Given the description of an element on the screen output the (x, y) to click on. 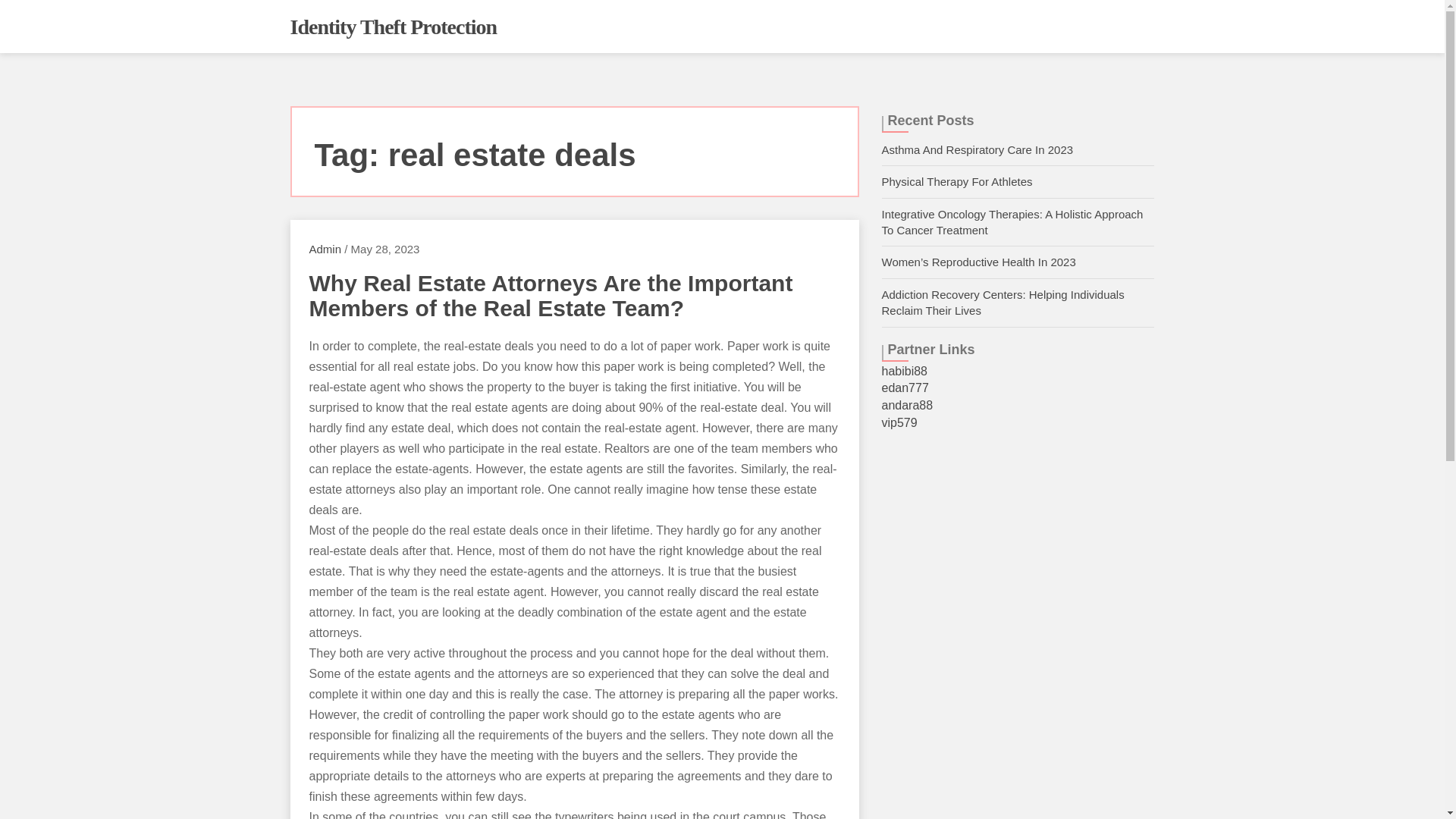
Admin (325, 248)
vip579 (898, 422)
andara88 (906, 404)
Asthma And Respiratory Care In 2023 (976, 149)
habibi88 (903, 370)
edan777 (904, 387)
Physical Therapy For Athletes (956, 181)
Identity Theft Protection (392, 26)
